Given the description of an element on the screen output the (x, y) to click on. 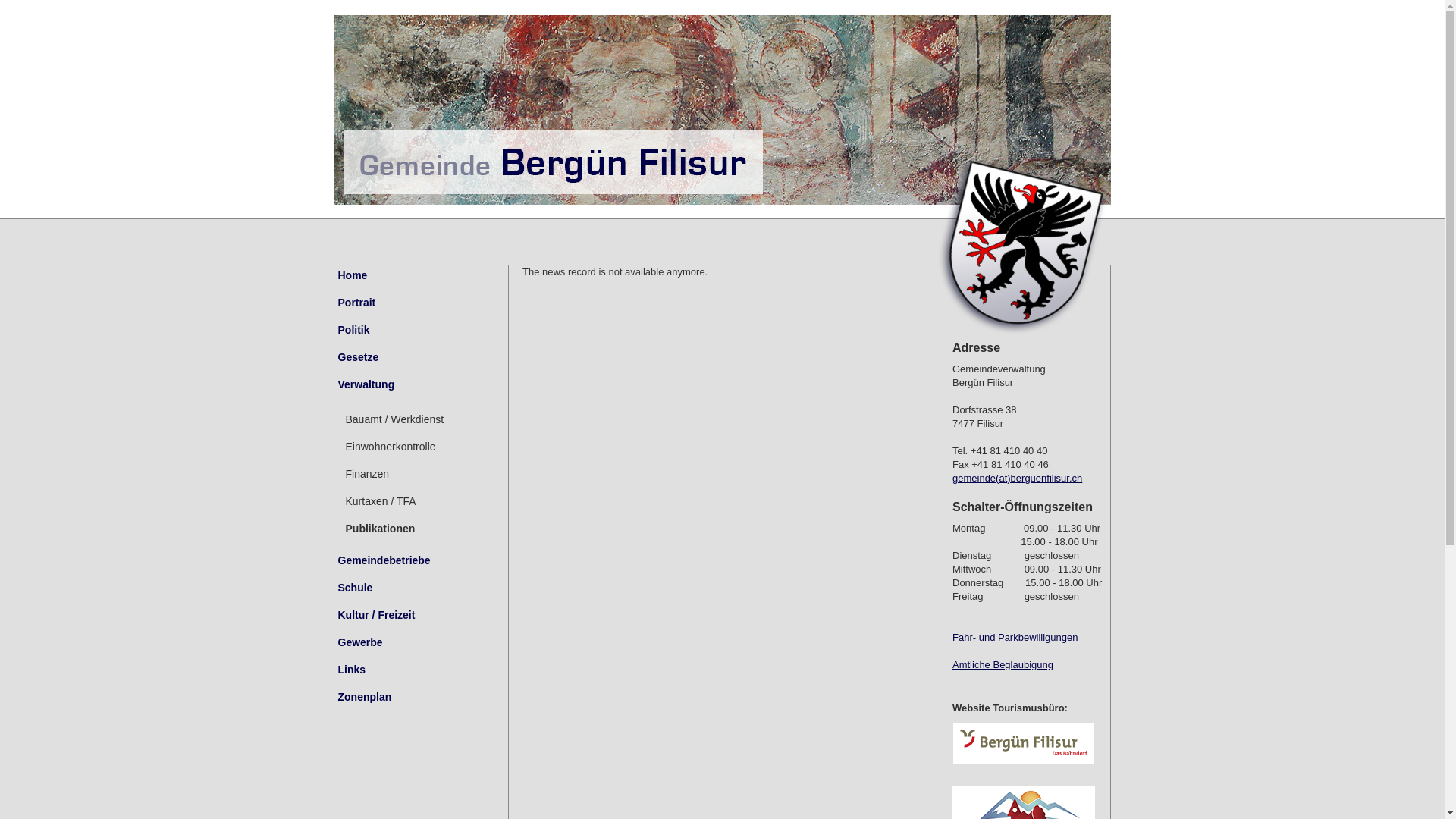
Schule Element type: text (415, 587)
Finanzen Element type: text (415, 473)
Fahr- und Parkbewilligungen Element type: text (1014, 637)
Gesetze Element type: text (415, 357)
Gewerbe Element type: text (415, 642)
Verwaltung Element type: text (415, 384)
Zonenplan Element type: text (415, 696)
Kurtaxen / TFA Element type: text (415, 500)
gemeinde(at)berguenfilisur.ch Element type: text (1017, 477)
Gemeindebetriebe Element type: text (415, 560)
Kultur / Freizeit Element type: text (415, 614)
Portrait Element type: text (415, 302)
Amtliche Beglaubigung Element type: text (1002, 664)
Einwohnerkontrolle Element type: text (415, 446)
Politik Element type: text (415, 329)
Publikationen Element type: text (415, 528)
Home Element type: text (415, 275)
Bauamt / Werkdienst Element type: text (415, 418)
Links Element type: text (415, 669)
